Given the description of an element on the screen output the (x, y) to click on. 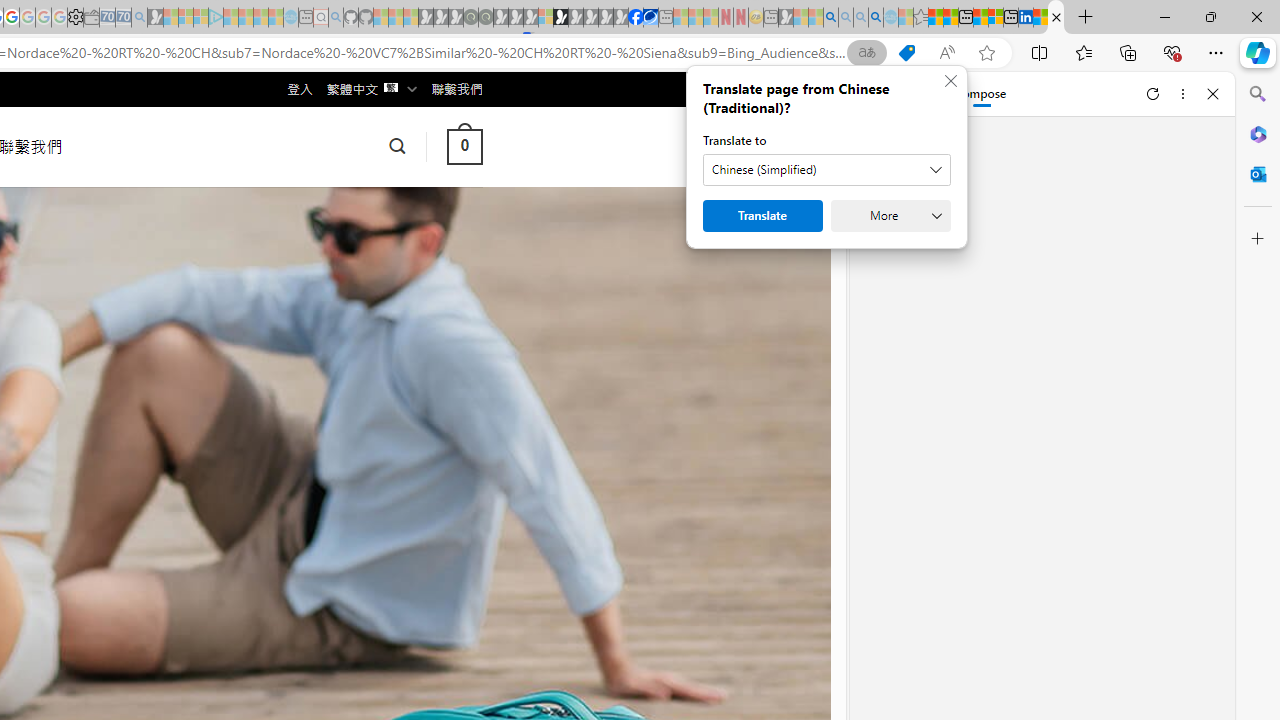
Aberdeen, Hong Kong SAR weather forecast | Microsoft Weather (950, 17)
Wallet - Sleeping (91, 17)
Translate to (826, 169)
